Given the description of an element on the screen output the (x, y) to click on. 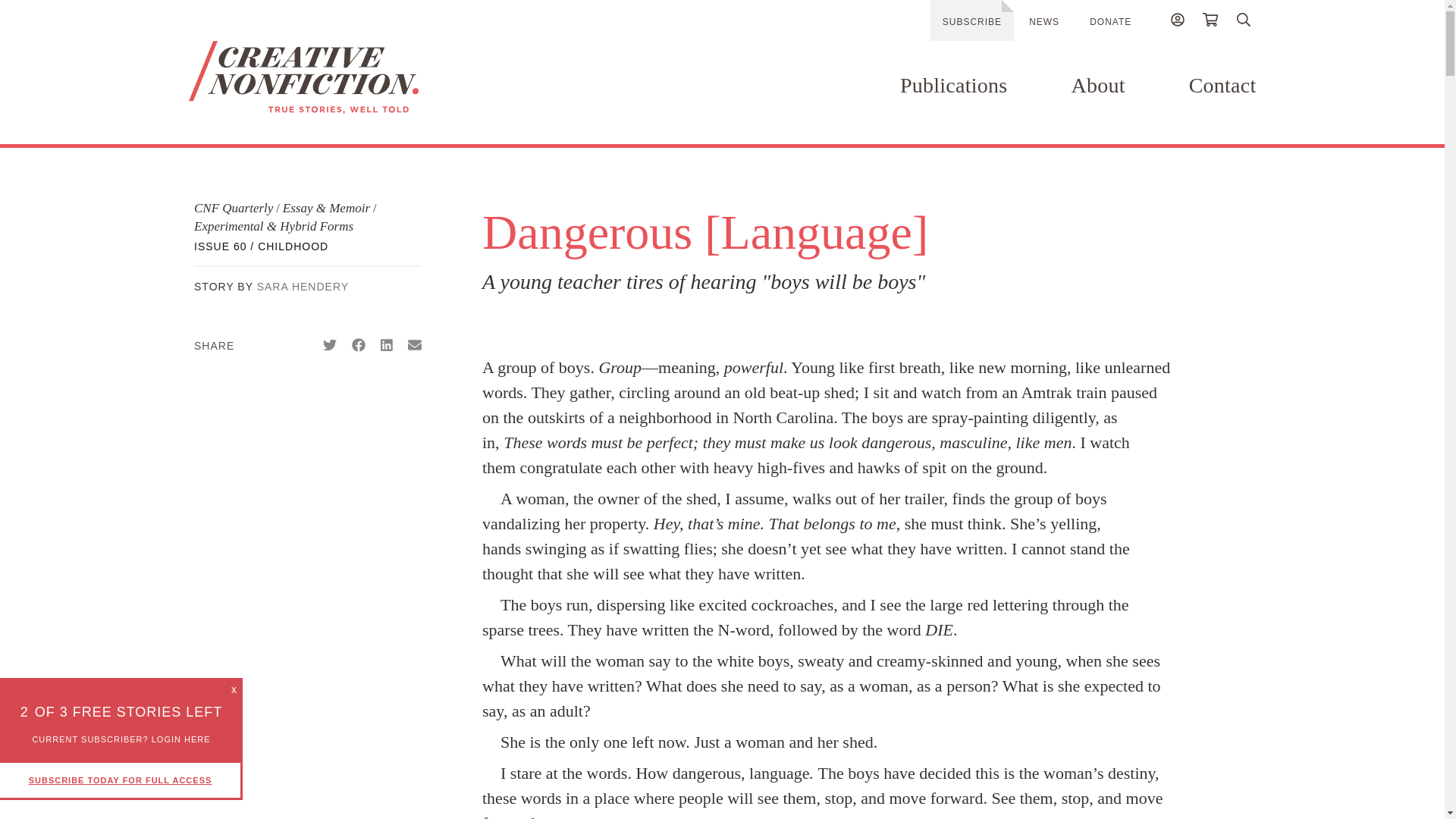
Share Via LinkedIn (386, 345)
Publications (953, 85)
Issue 60 (261, 246)
Share Via Facebook (358, 345)
My Account (1177, 21)
NEWS (1044, 21)
Sara Hendery (303, 286)
CNF Quarterly (233, 207)
Creative Nonfiction (347, 76)
DONATE (1110, 21)
Share Via Twitter (329, 345)
Share Via Email (414, 345)
Share Via LinkedIn (386, 345)
Share Via Twitter (329, 345)
SUBSCRIBE (971, 20)
